Given the description of an element on the screen output the (x, y) to click on. 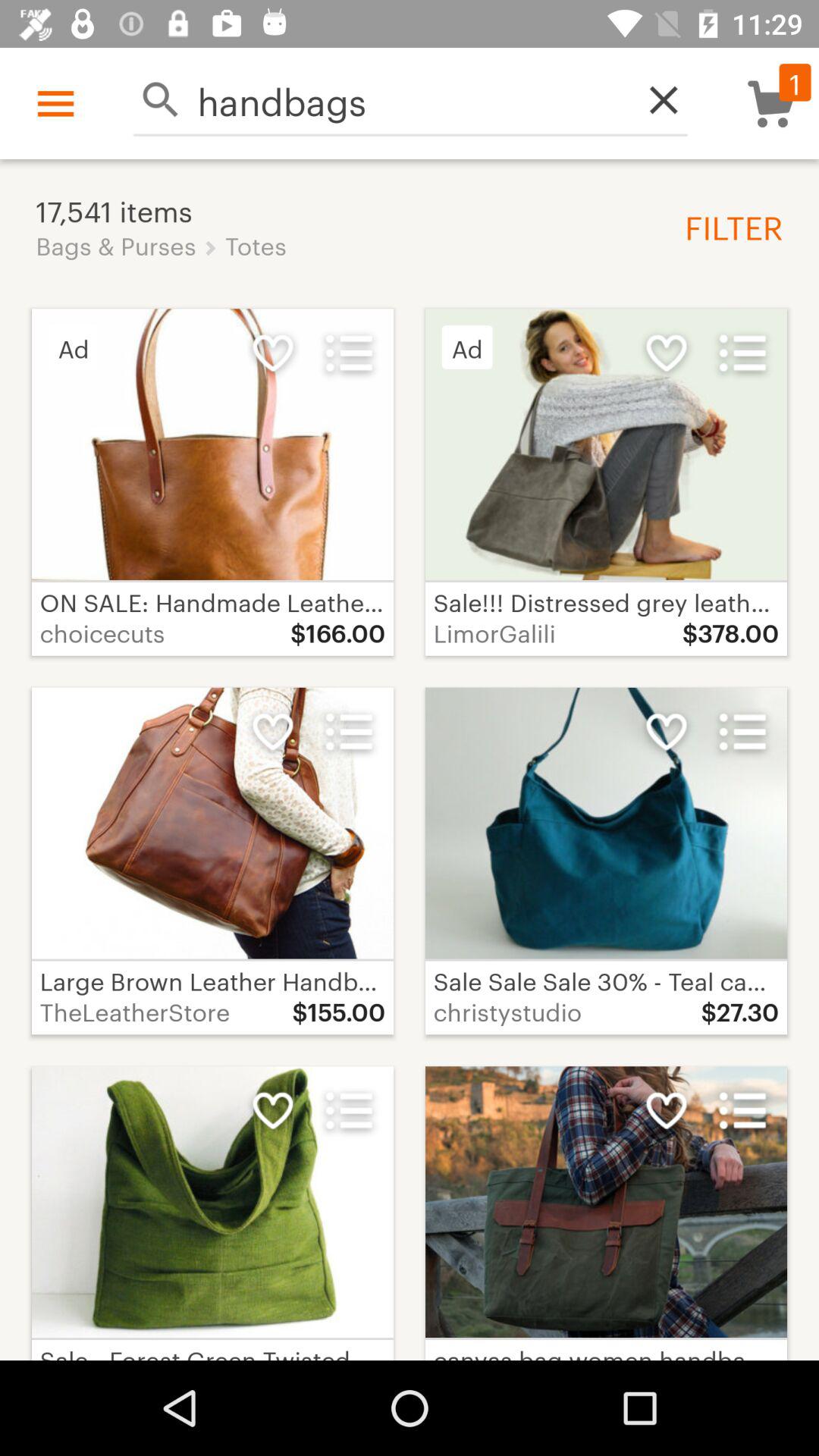
press item to the right of the handbags item (655, 99)
